Given the description of an element on the screen output the (x, y) to click on. 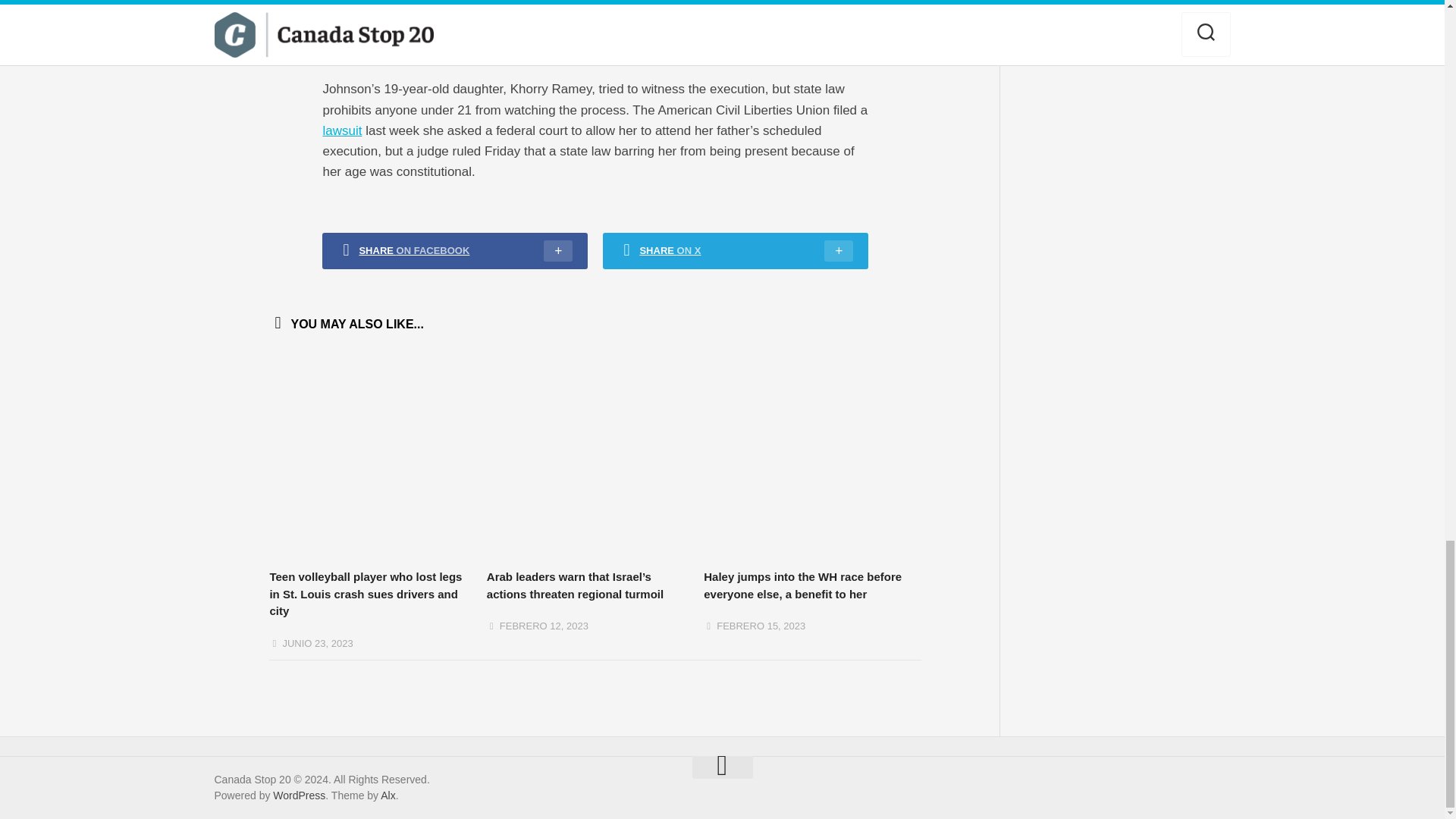
lawsuit (341, 130)
SHARE ON X (734, 250)
SHARE ON FACEBOOK (454, 250)
